Given the description of an element on the screen output the (x, y) to click on. 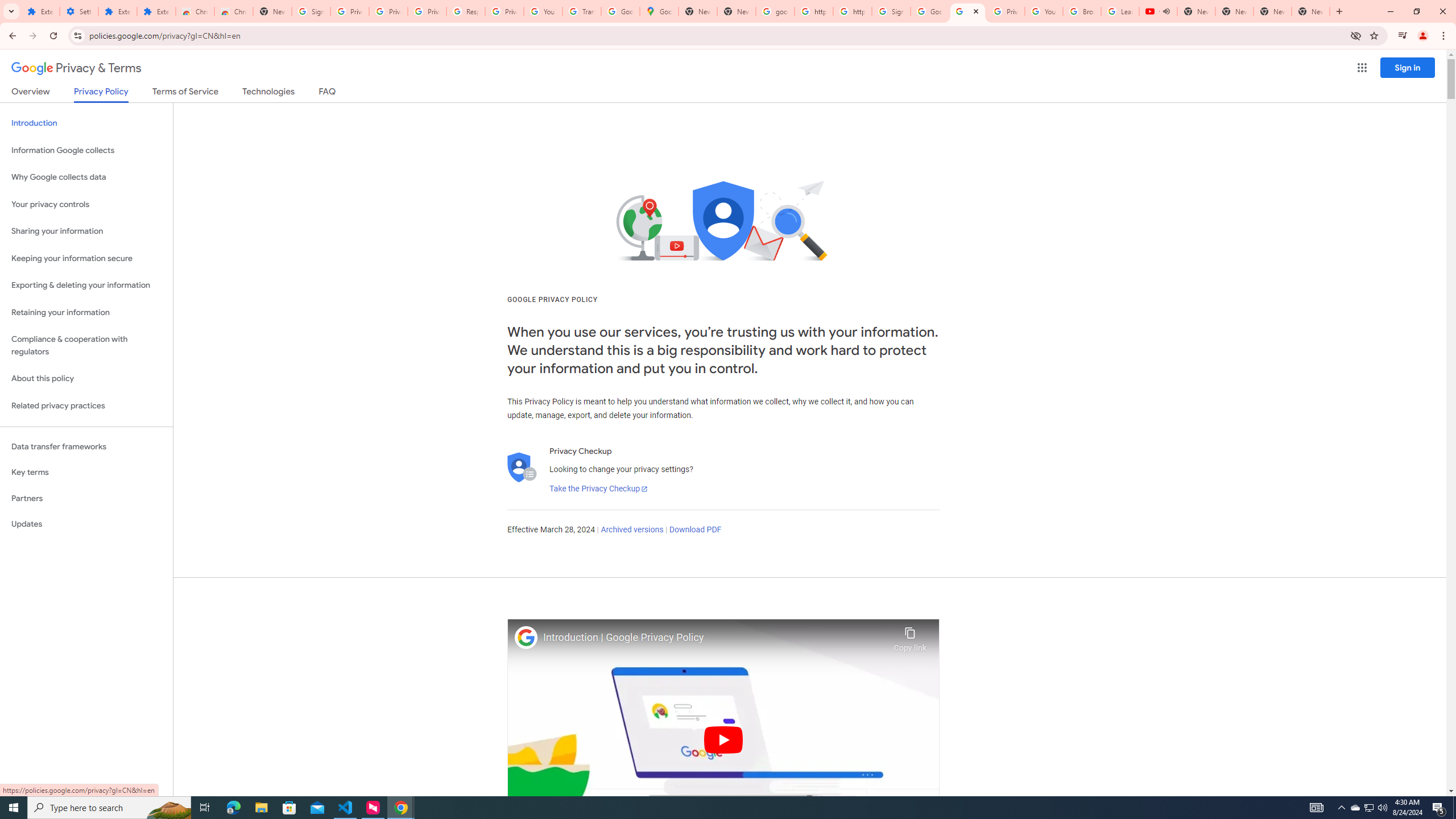
Play (723, 739)
